Given the description of an element on the screen output the (x, y) to click on. 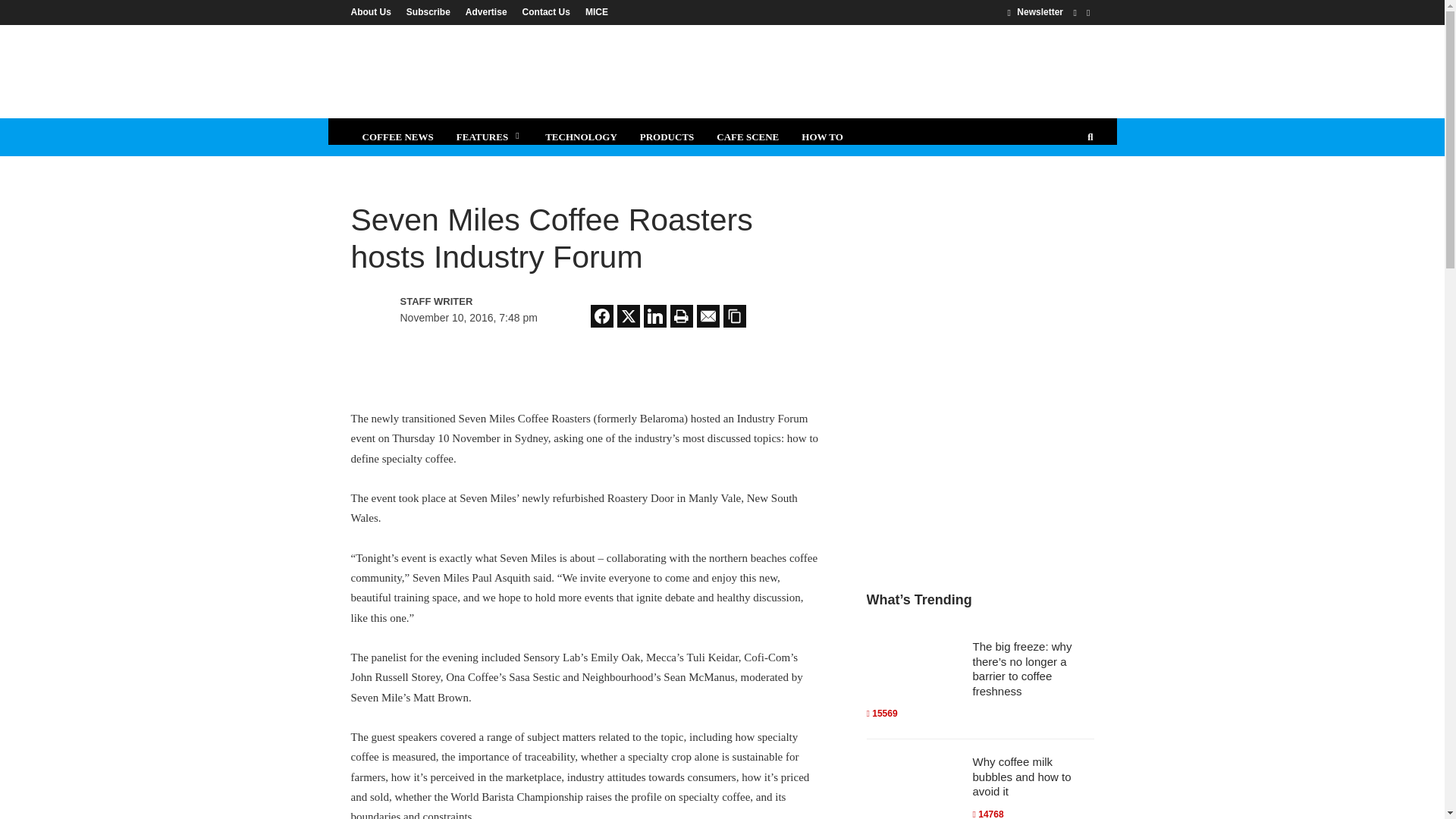
Share on Email (708, 315)
Share on Print (681, 315)
HOW TO (822, 136)
MICE (593, 11)
FEATURES (489, 136)
Advertise (486, 11)
TECHNOLOGY (581, 136)
Share on Twitter (628, 315)
CAFE SCENE (747, 136)
STAFF WRITER (465, 301)
